Given the description of an element on the screen output the (x, y) to click on. 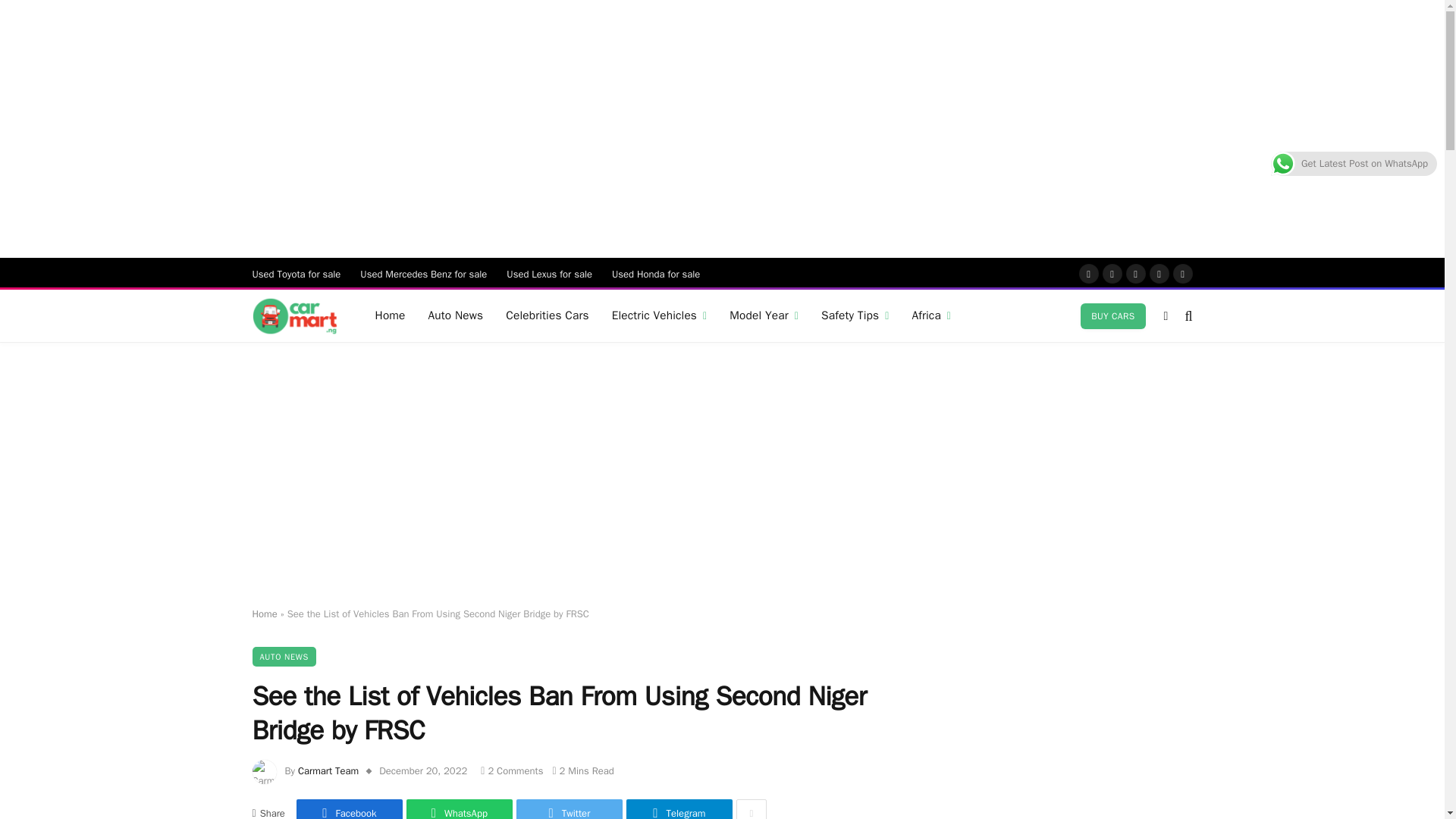
Share on WhatsApp (459, 809)
Share on Telegram (679, 809)
Used Lexus for sale (549, 273)
Used Mercedes Benz for sale (423, 273)
Used Toyota for sale (296, 273)
Home (390, 315)
Auto News (455, 315)
Used Honda for sale (656, 273)
Switch to Dark Design - easier on eyes. (1165, 315)
Share on Facebook (350, 809)
